Given the description of an element on the screen output the (x, y) to click on. 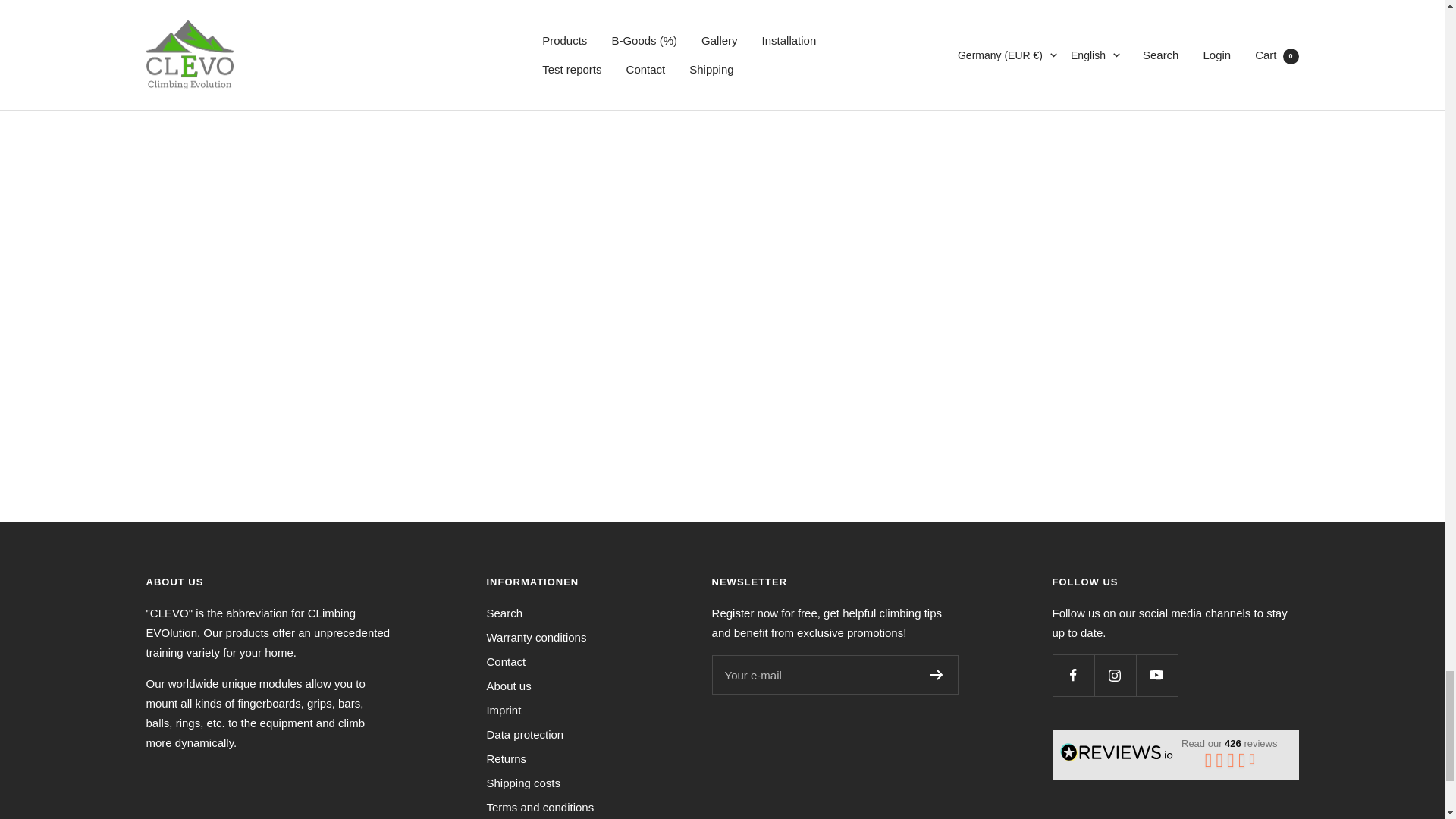
Reviews Badge Ribbon Widget (1175, 751)
Register (936, 674)
